Given the description of an element on the screen output the (x, y) to click on. 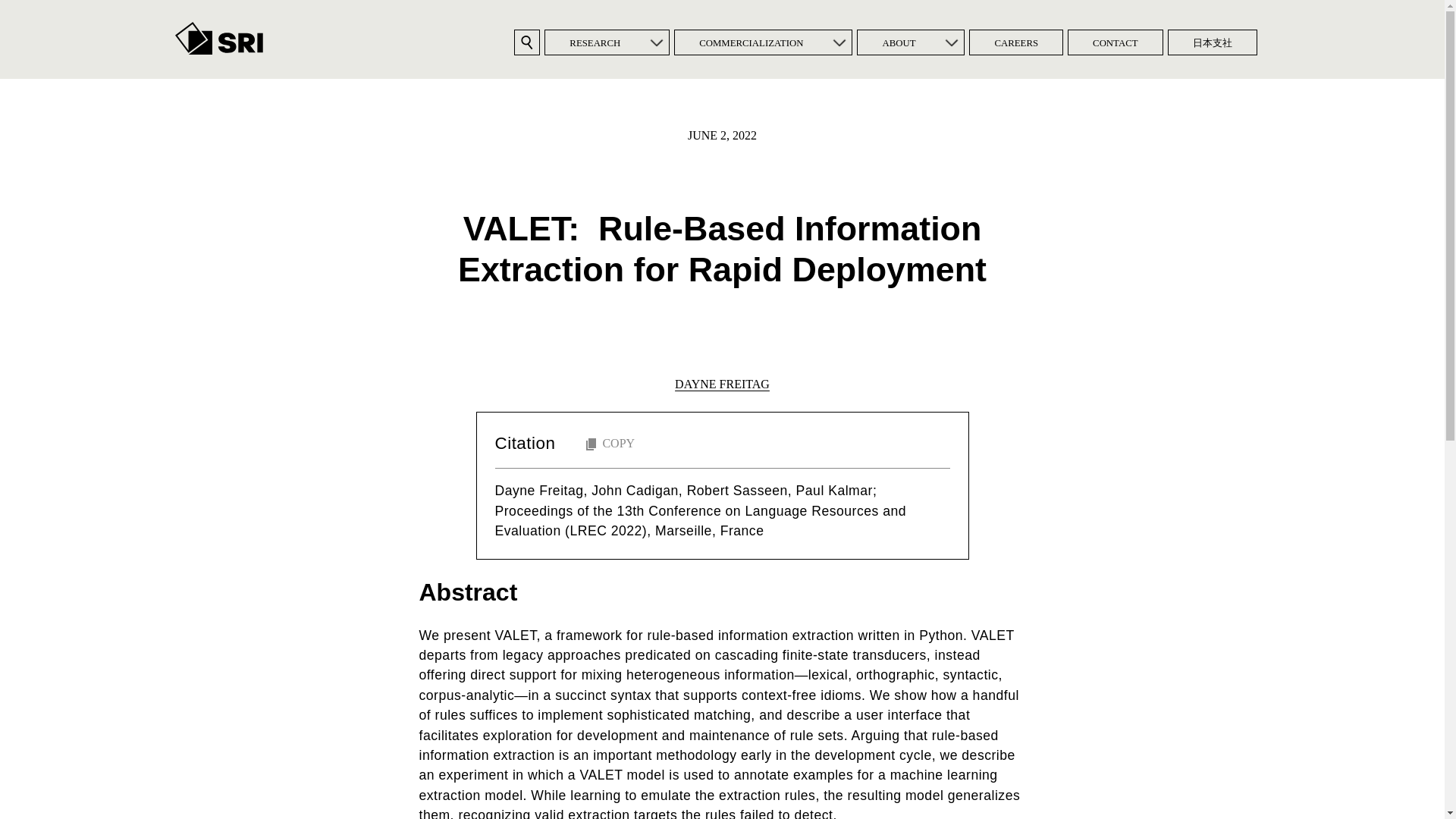
ABOUT (898, 42)
CONTACT (1114, 42)
RESEARCH (594, 42)
COMMERCIALIZATION (751, 42)
CAREERS (1015, 42)
